Given the description of an element on the screen output the (x, y) to click on. 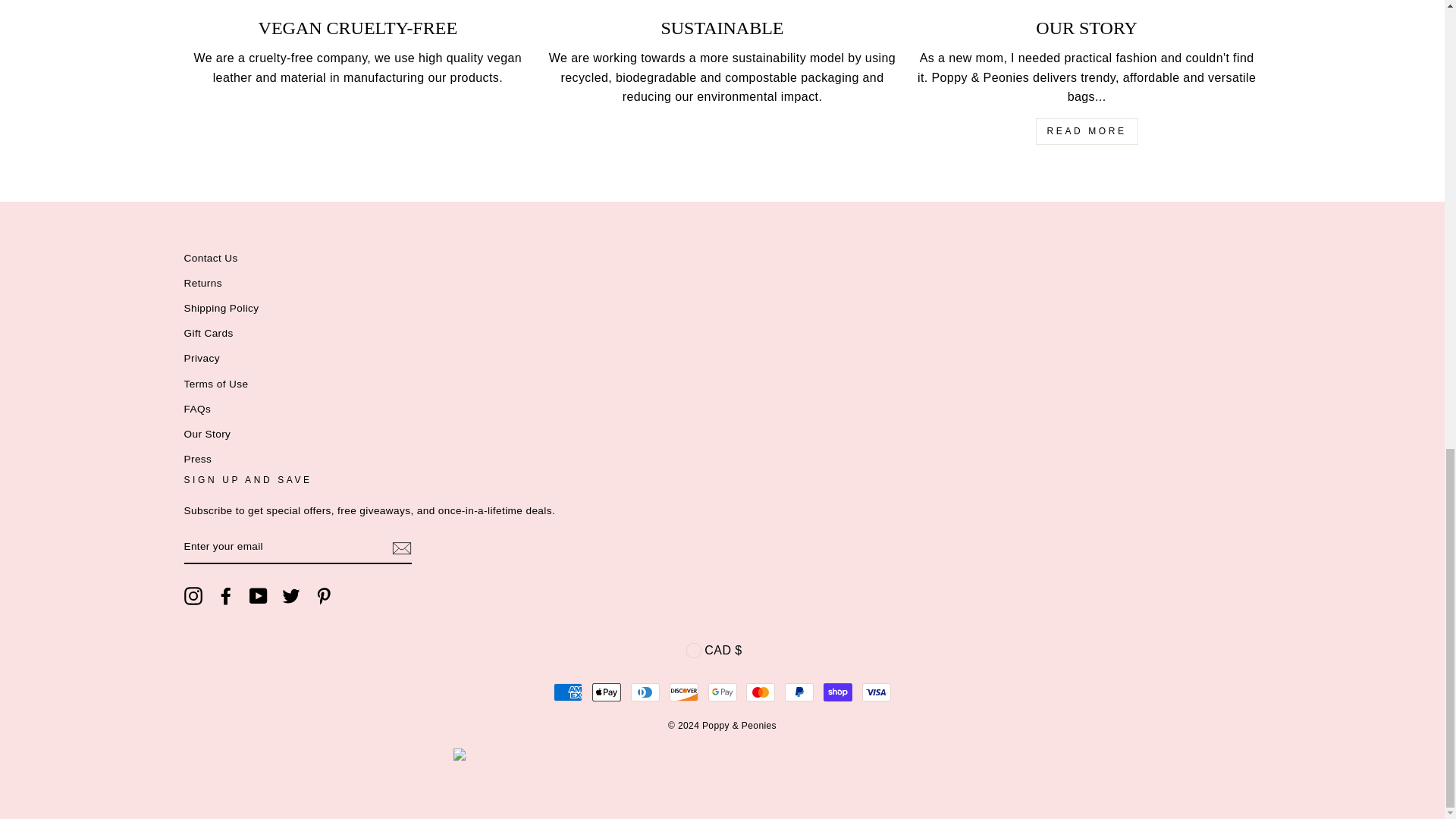
Google Pay (721, 692)
Mastercard (759, 692)
Diners Club (644, 692)
Apple Pay (606, 692)
Discover (683, 692)
American Express (567, 692)
